Given the description of an element on the screen output the (x, y) to click on. 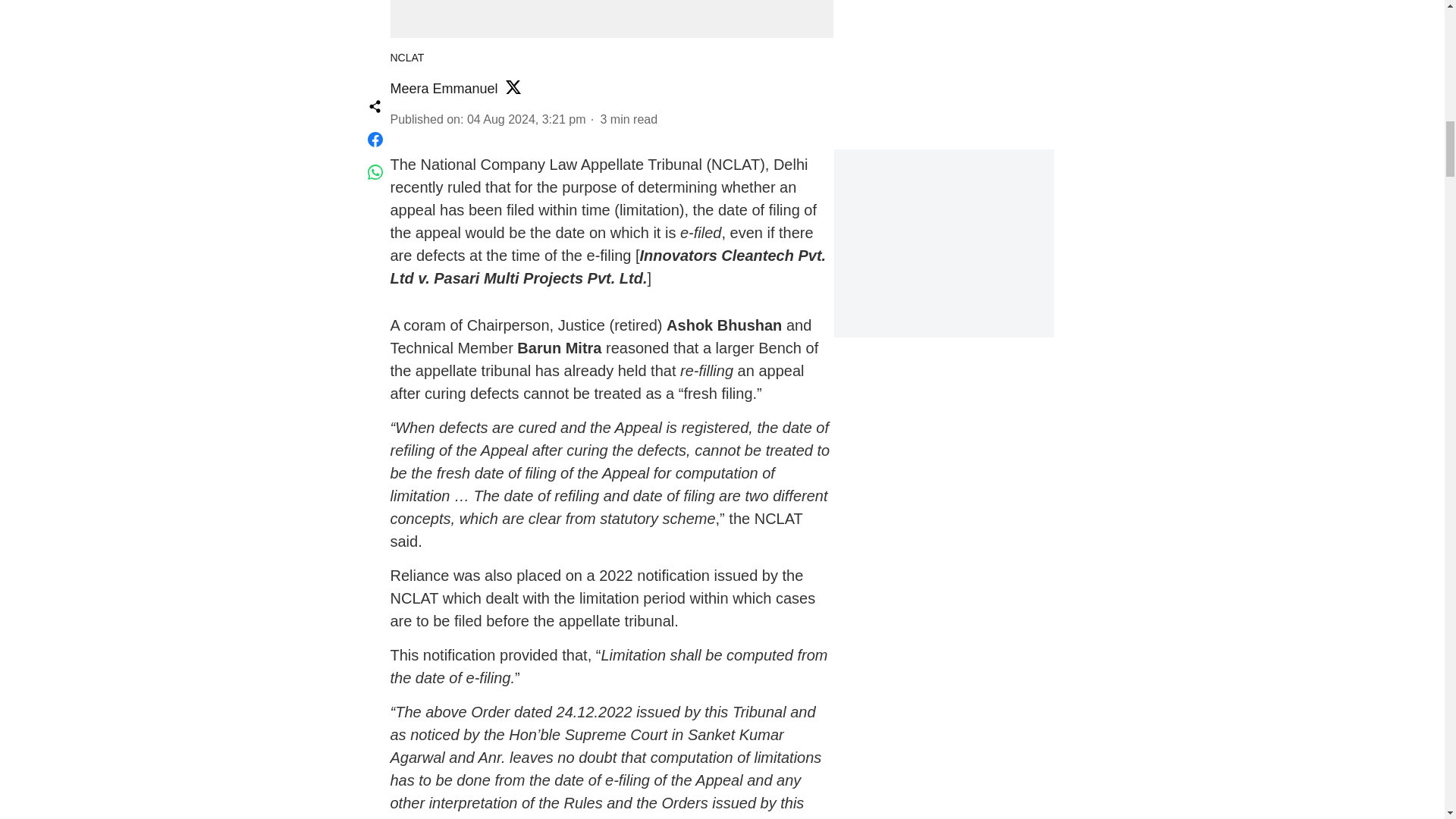
2024-08-04 07:21 (526, 119)
Meera Emmanuel (443, 87)
